Given the description of an element on the screen output the (x, y) to click on. 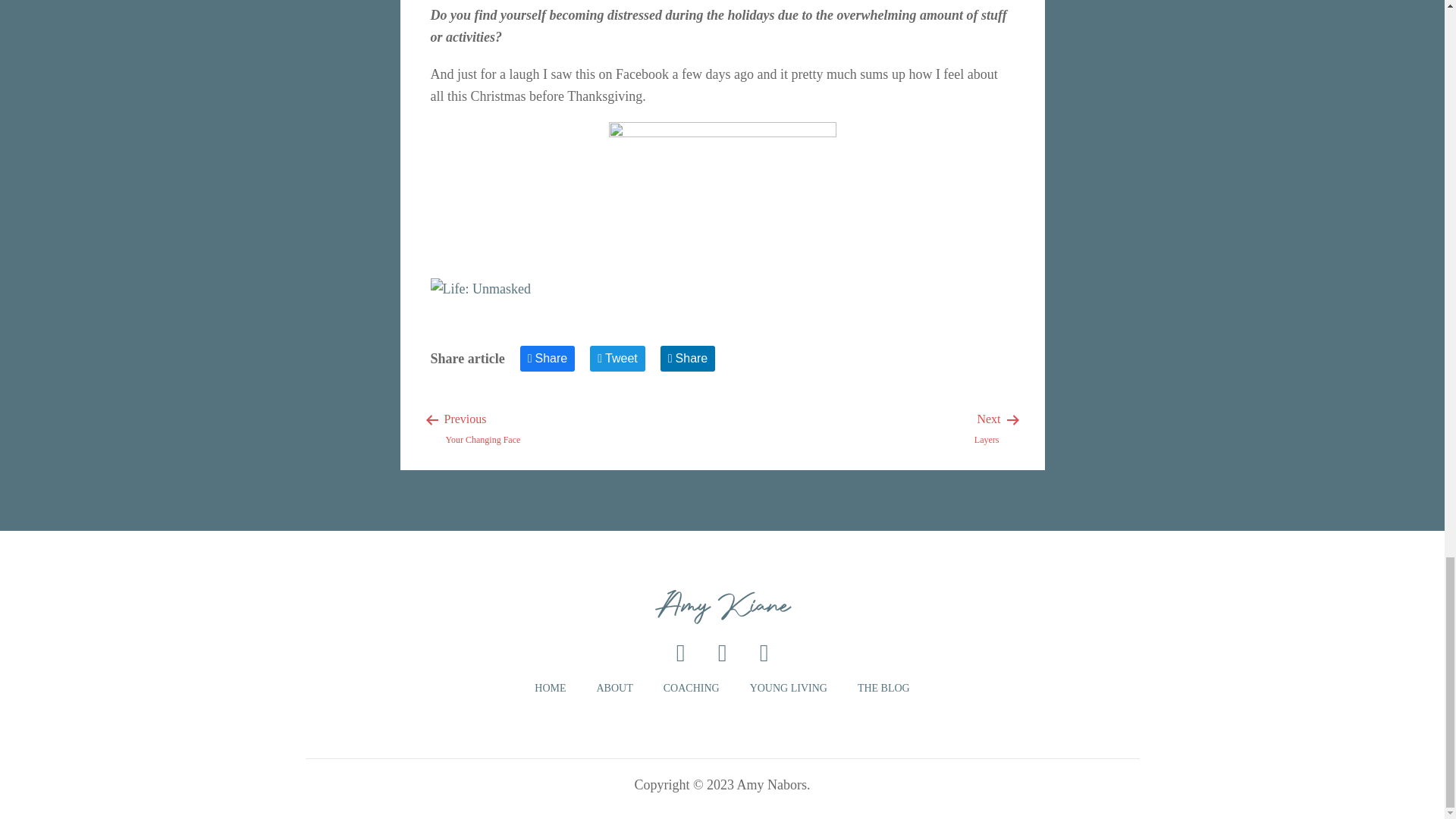
Tweet (617, 358)
COACHING (691, 688)
THE BLOG (987, 428)
Share (483, 428)
YOUNG LIVING (883, 688)
Share (547, 358)
HOME (788, 688)
ABOUT (688, 358)
